Given the description of an element on the screen output the (x, y) to click on. 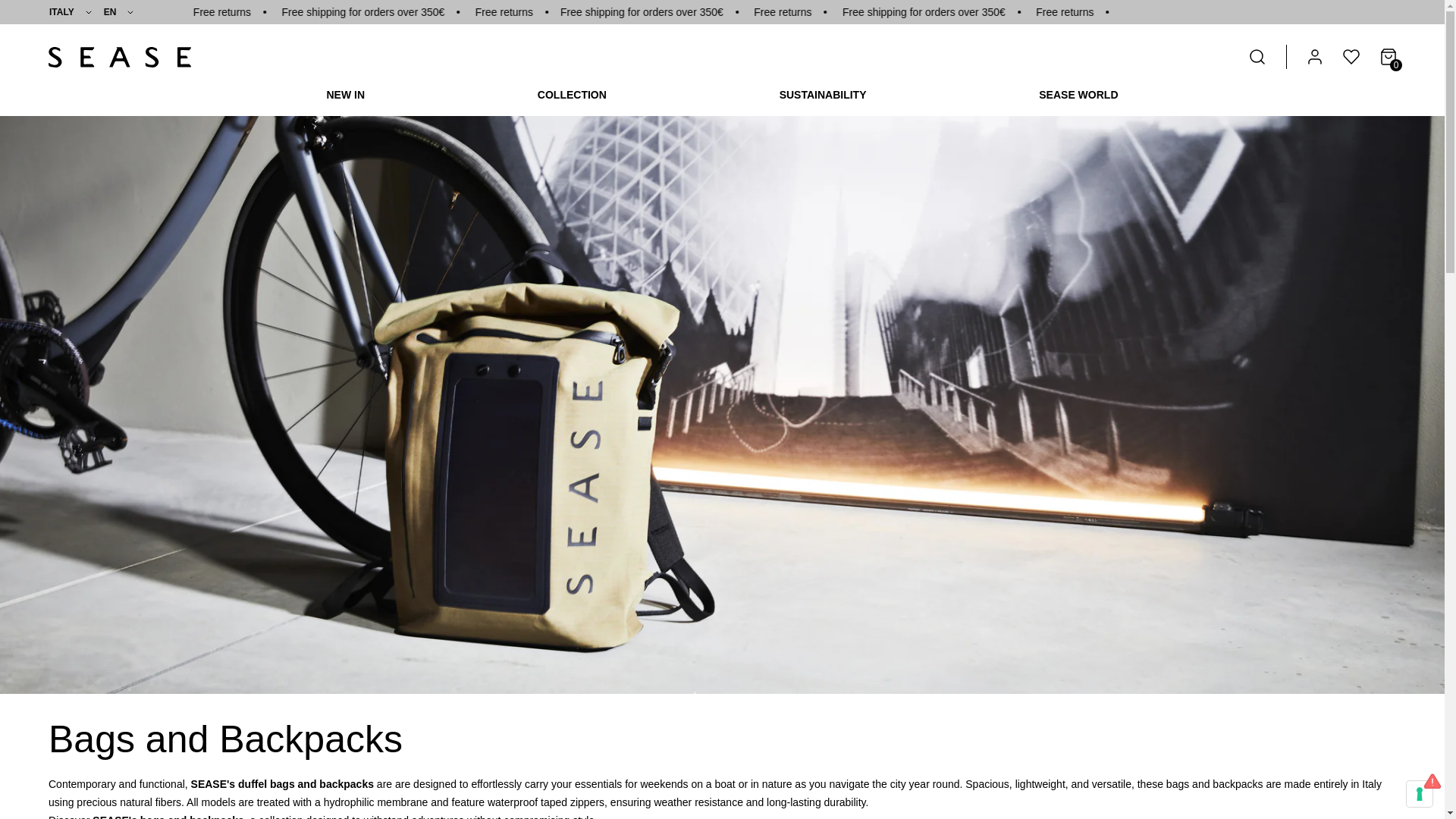
Free returns (692, 12)
SEASE (119, 56)
Wishlist (1350, 56)
Log in (1314, 56)
Free returns (1249, 12)
Free returns (412, 12)
Free returns (968, 12)
Search (1257, 56)
